Given the description of an element on the screen output the (x, y) to click on. 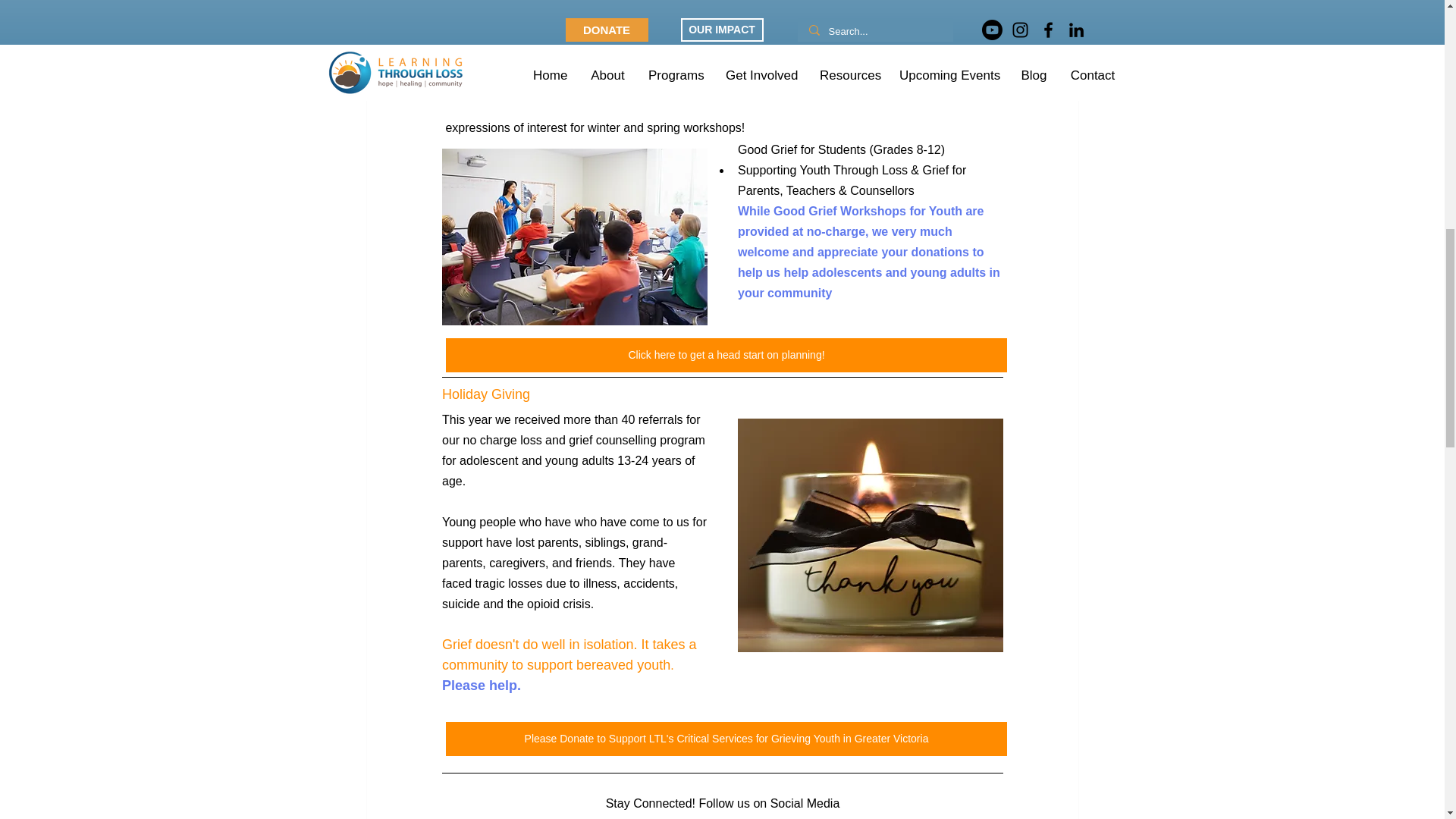
Click here to learn more and register (725, 3)
Click here to get a head start on planning! (726, 355)
